Given the description of an element on the screen output the (x, y) to click on. 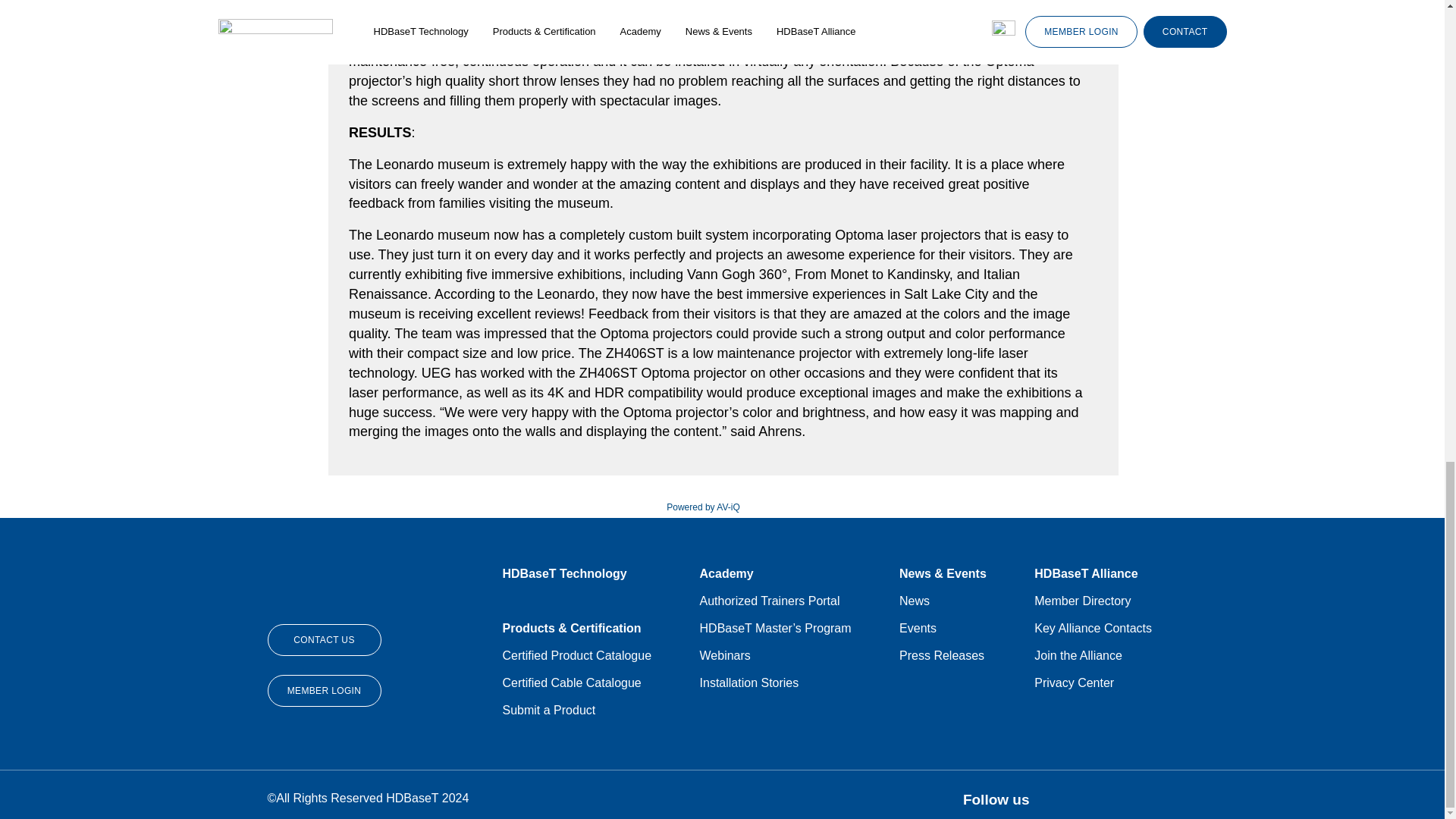
MEMBER LOGIN (323, 690)
Certified Cable Catalogue (571, 682)
Certified Product Catalogue (576, 655)
Powered by AV-iQ (702, 507)
Authorized Trainers Portal (770, 600)
CONTACT US (323, 640)
News (914, 600)
Submit a Product (548, 709)
Academy (788, 574)
HDBaseT Technology (589, 574)
Installation Stories (749, 682)
Webinars (725, 655)
